Given the description of an element on the screen output the (x, y) to click on. 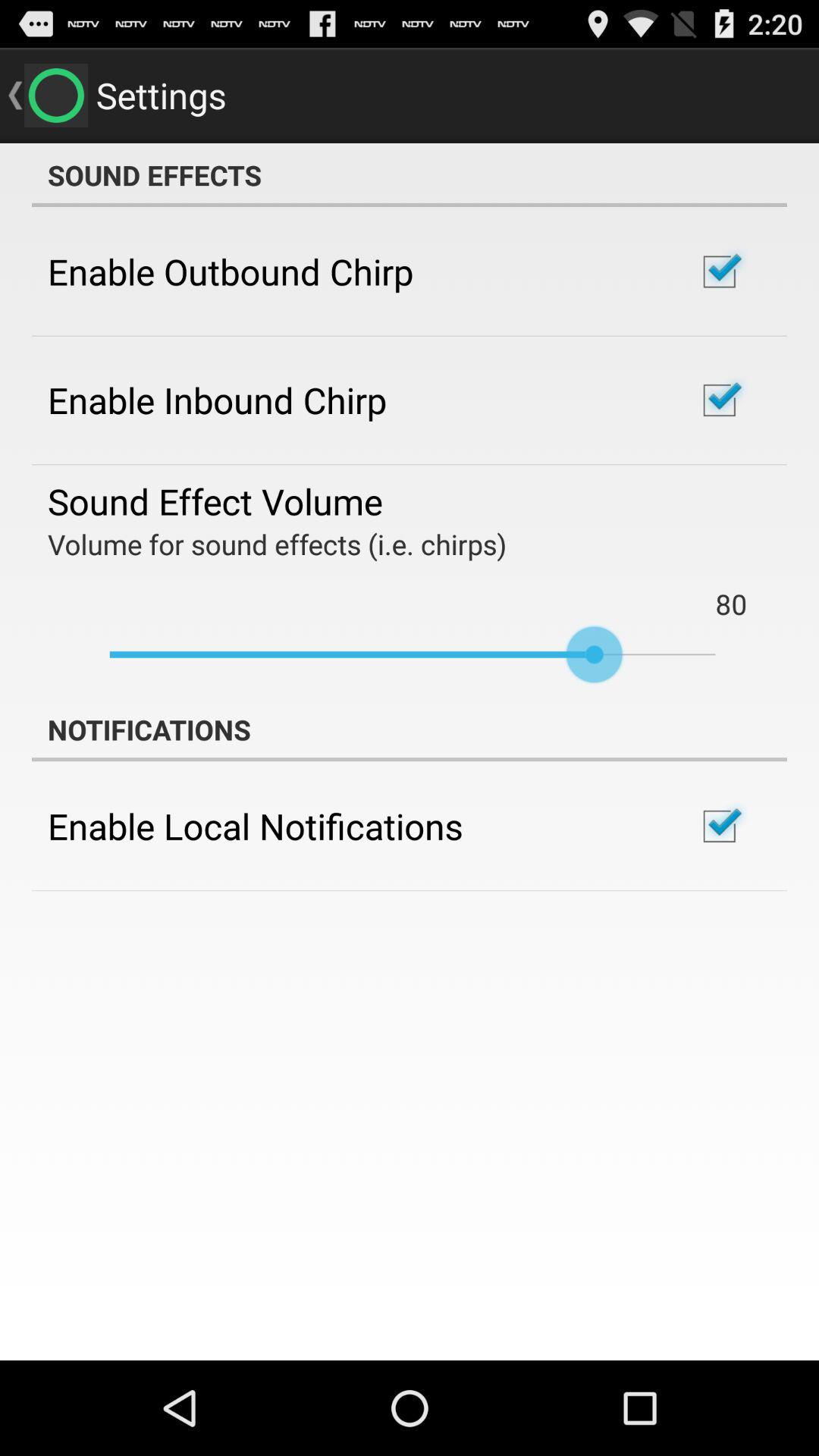
select app below 80 (412, 654)
